Given the description of an element on the screen output the (x, y) to click on. 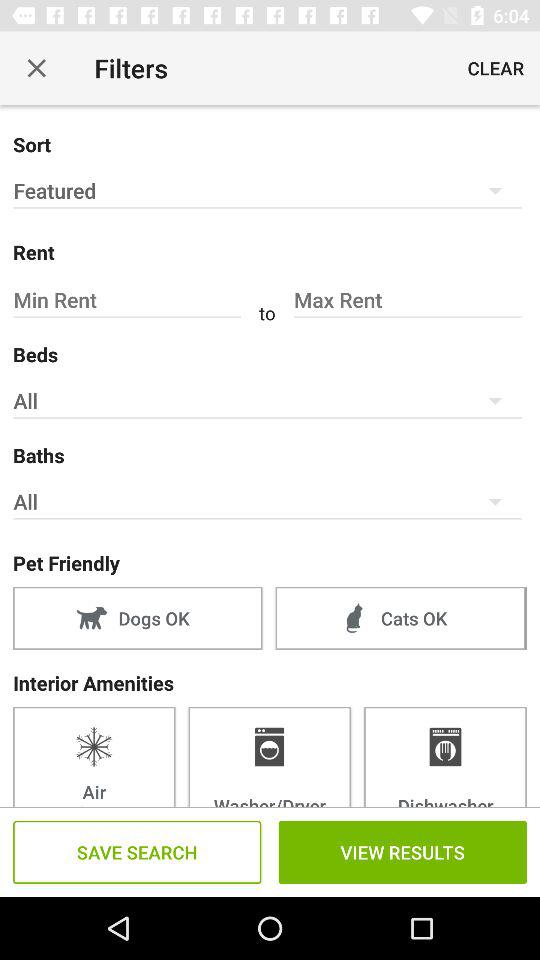
select the first box which is under the interior amenities (94, 756)
select the option clear which is on the top right corner of the page (495, 68)
click on dishwasher (445, 756)
click on the field max rent (407, 299)
click on the text all which is above baths (267, 401)
select the text which is to the immediate left of view results (136, 852)
